Given the description of an element on the screen output the (x, y) to click on. 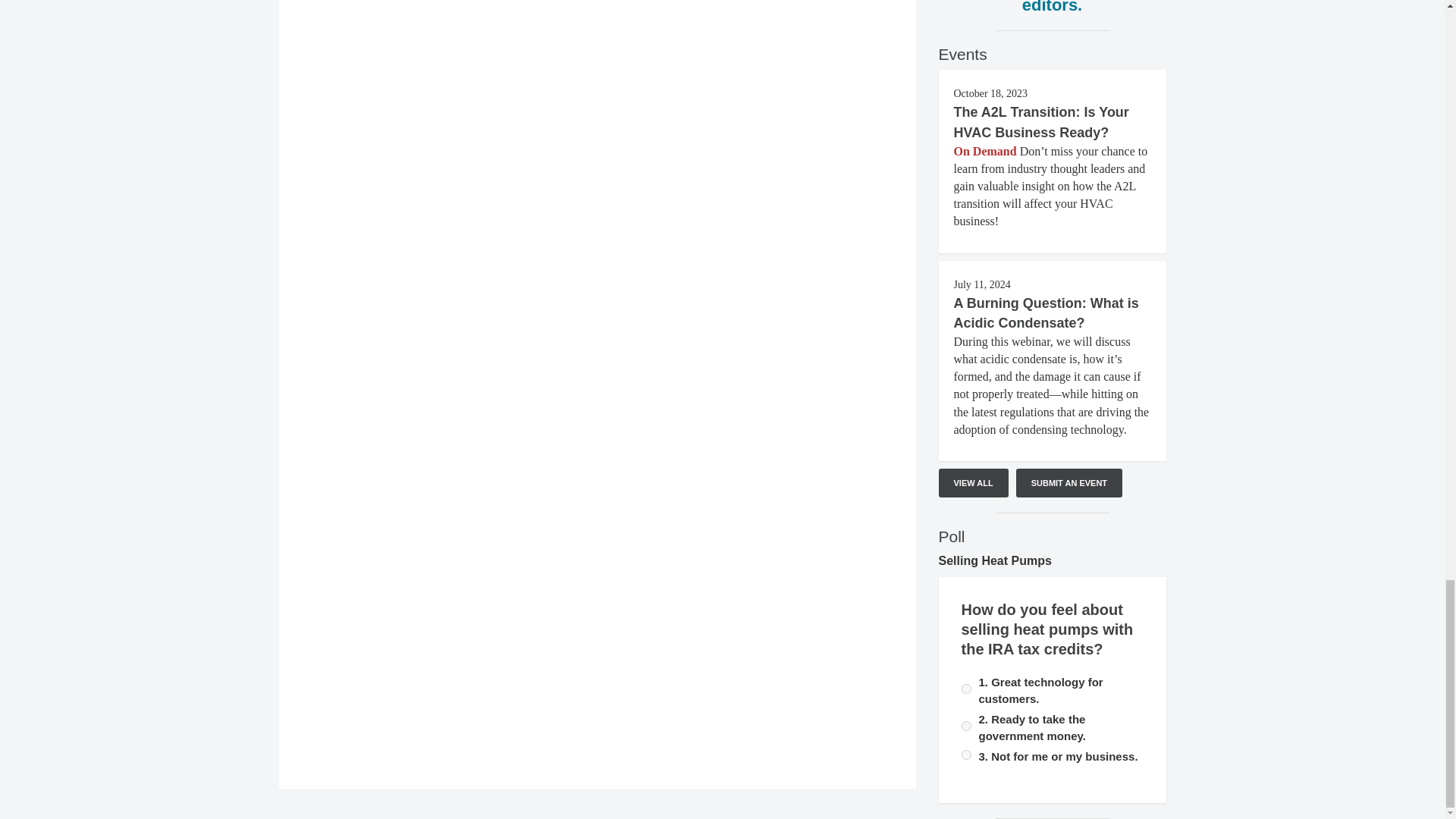
605 (965, 688)
604 (965, 755)
A Burning Question: What is Acidic Condensate? (1045, 312)
606 (965, 726)
The A2L Transition: Is Your HVAC Business Ready? (1041, 121)
